Given the description of an element on the screen output the (x, y) to click on. 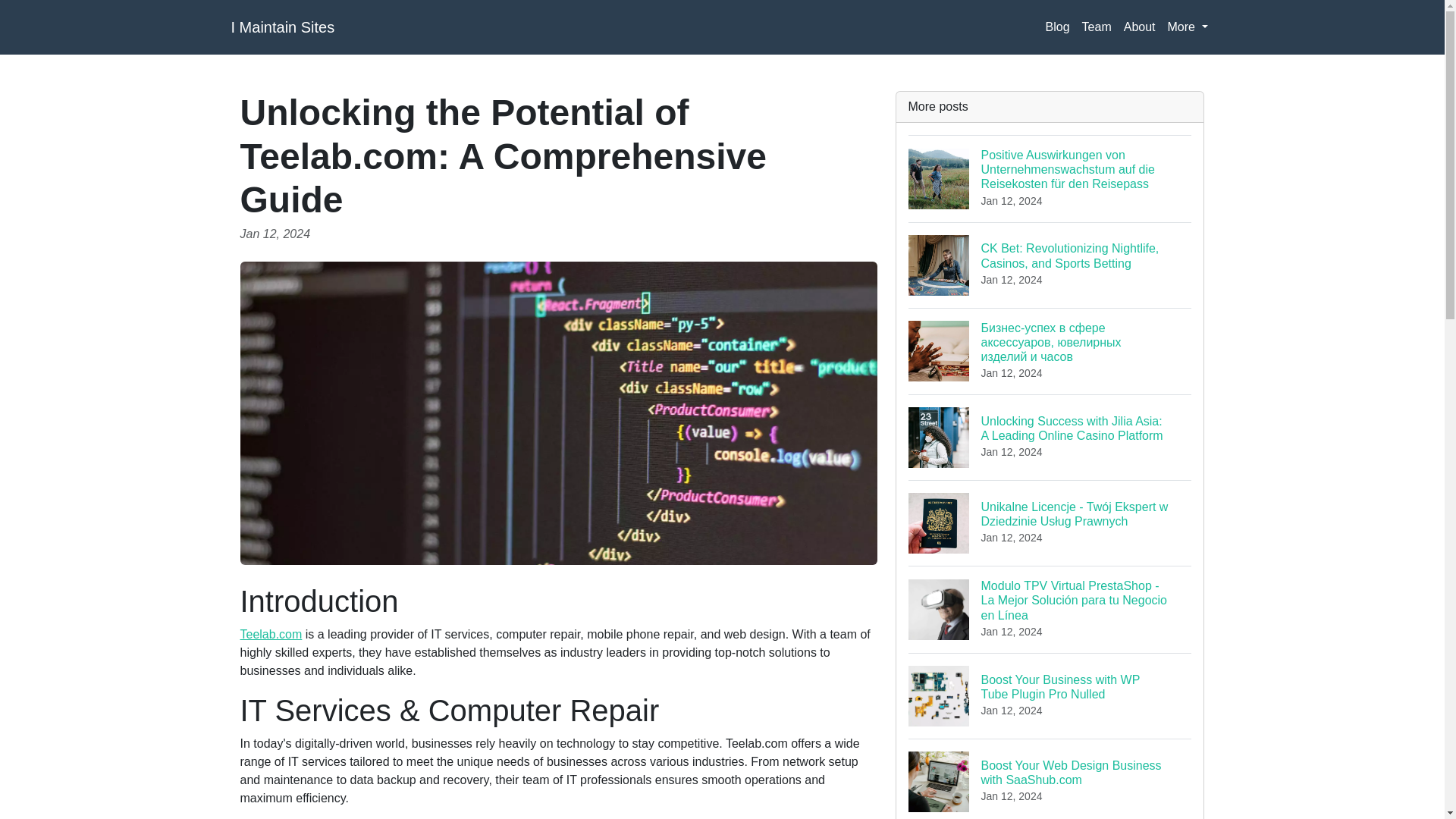
More (1187, 27)
About (1139, 27)
I Maintain Sites (282, 27)
Team (1096, 27)
Teelab.com (270, 634)
Blog (1050, 778)
